Given the description of an element on the screen output the (x, y) to click on. 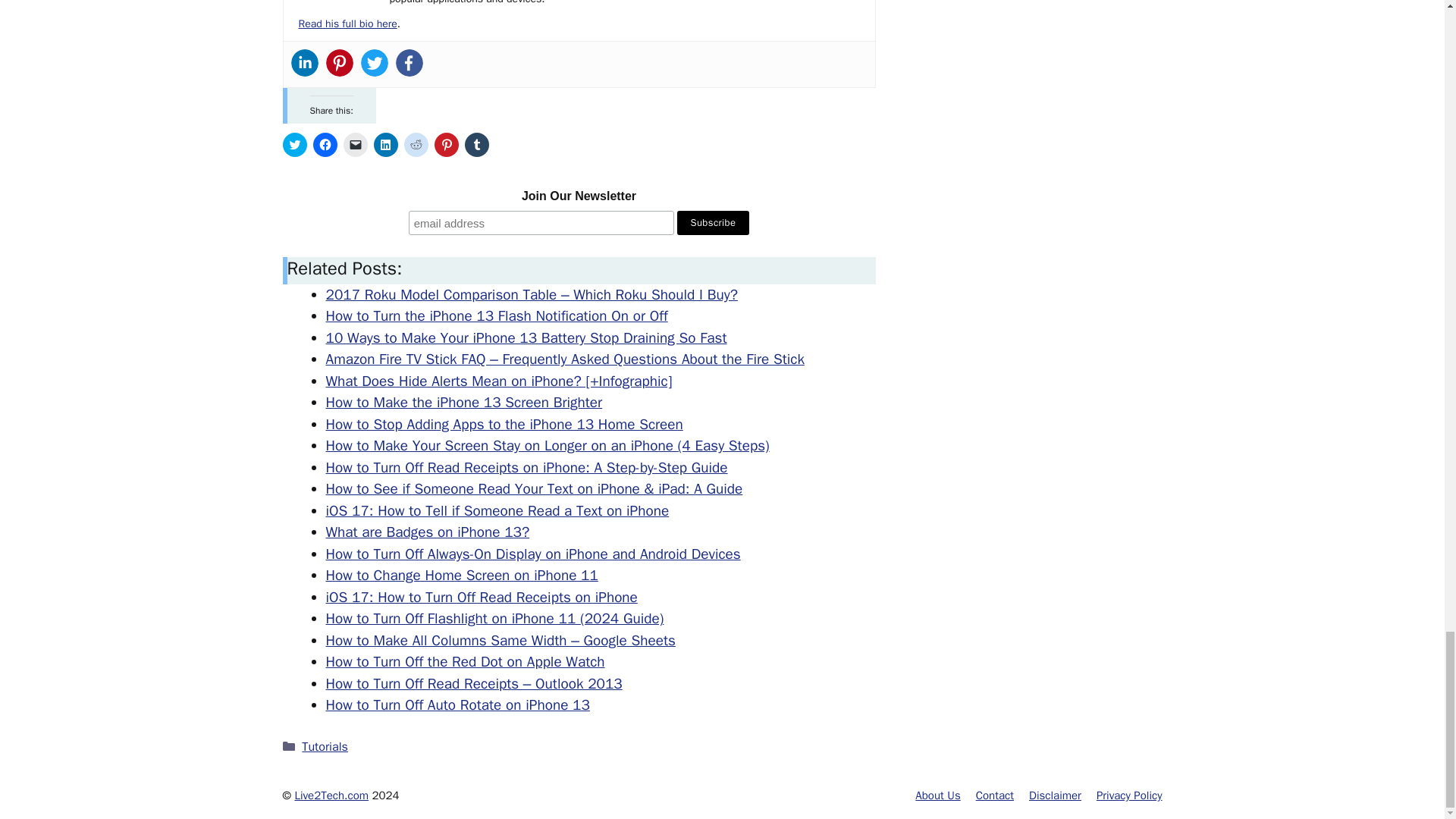
How to Change Home Screen on iPhone 11 (462, 575)
How to Turn the iPhone 13 Flash Notification On or Off (497, 316)
Subscribe (713, 222)
How to Stop Adding Apps to the iPhone 13 Home Screen (504, 424)
10 Ways to Make Your iPhone 13 Battery Stop Draining So Fast (526, 338)
Read his full bio here (347, 23)
How to Turn Off Auto Rotate on iPhone 13 (457, 705)
iOS 17: How to Turn Off Read Receipts on iPhone (481, 597)
How to Make the iPhone 13 Screen Brighter (464, 402)
